Given the description of an element on the screen output the (x, y) to click on. 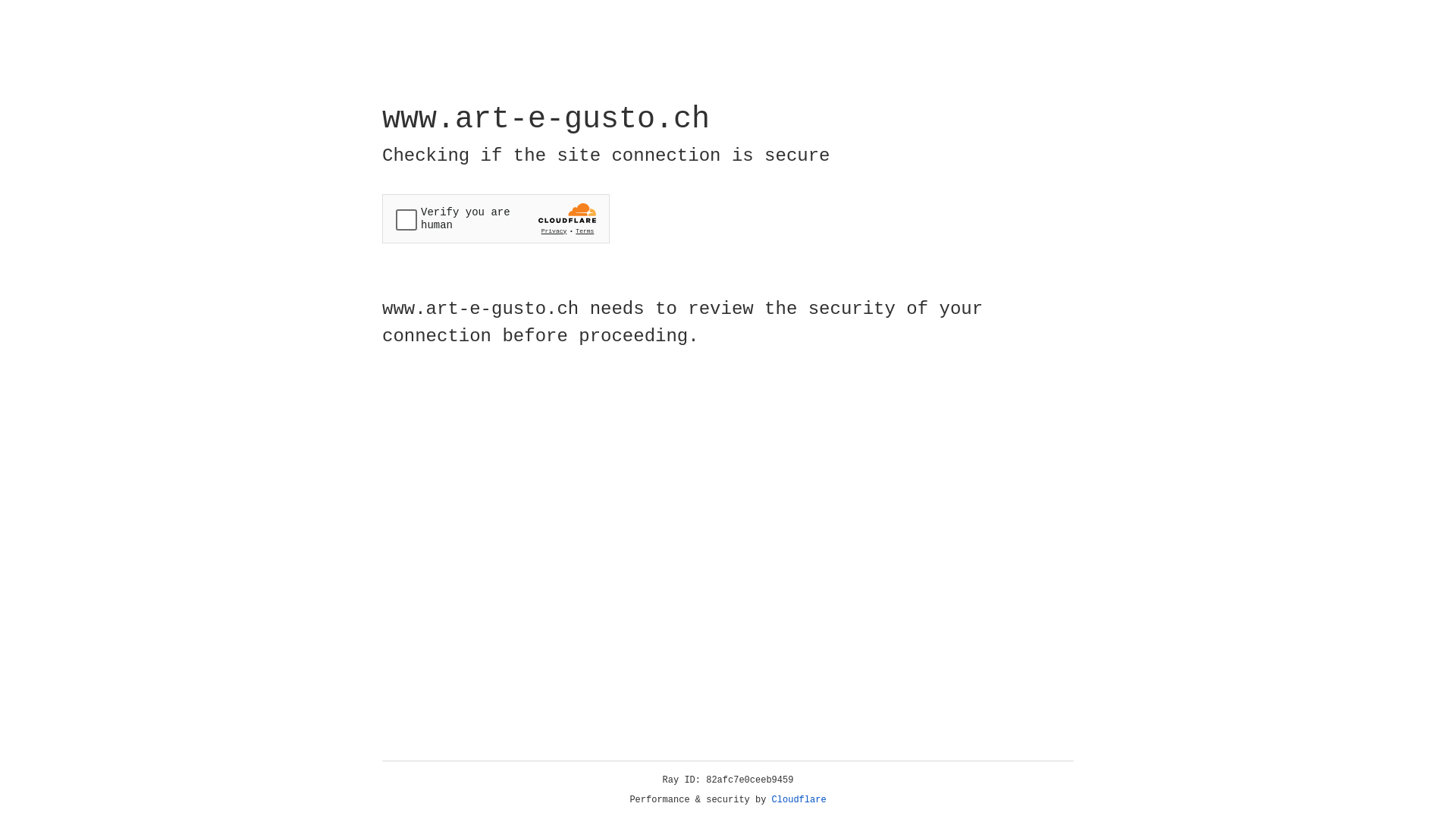
Widget containing a Cloudflare security challenge Element type: hover (495, 218)
Cloudflare Element type: text (798, 799)
